Given the description of an element on the screen output the (x, y) to click on. 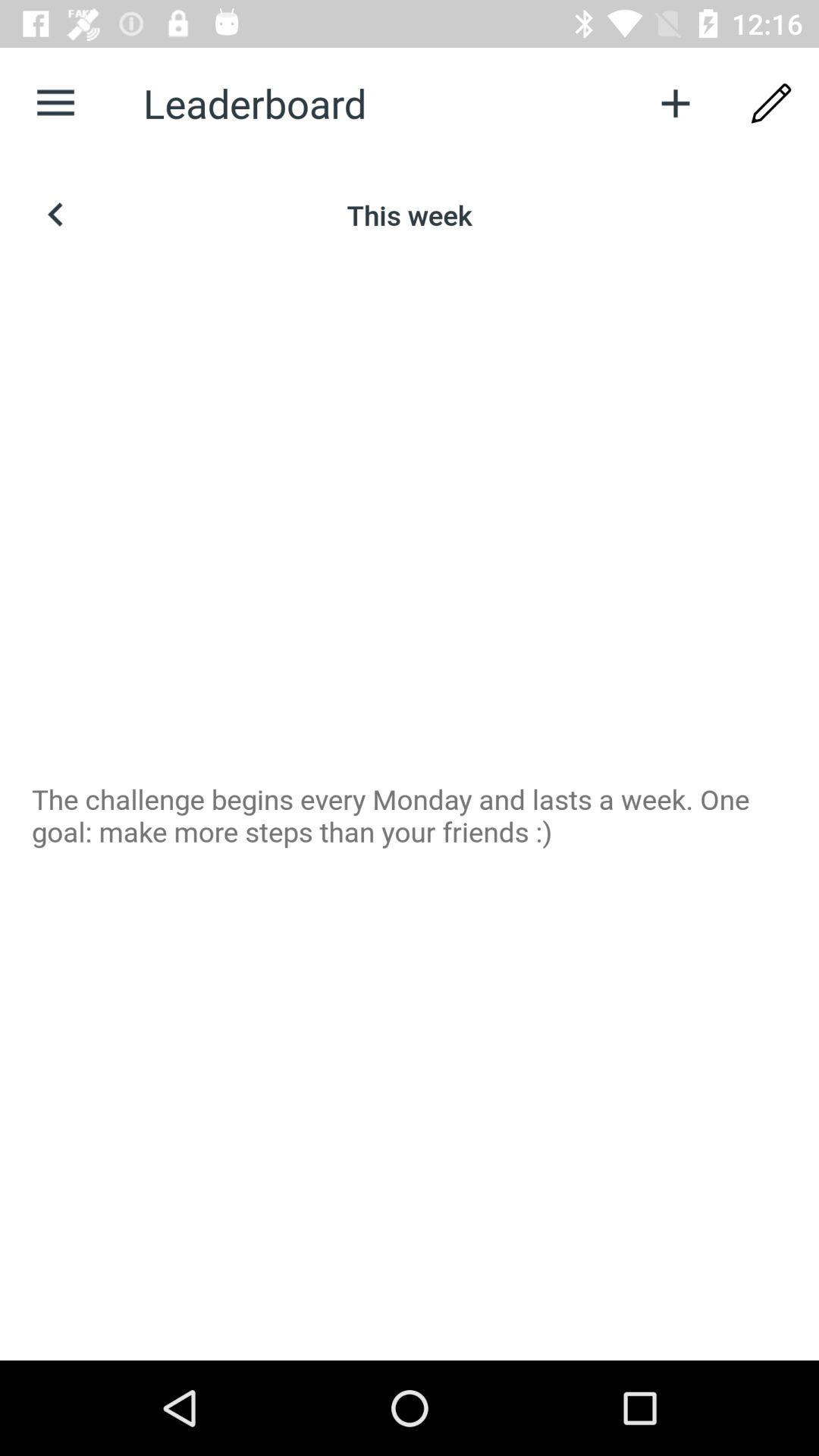
click the icon above the the challenge begins item (771, 103)
